Given the description of an element on the screen output the (x, y) to click on. 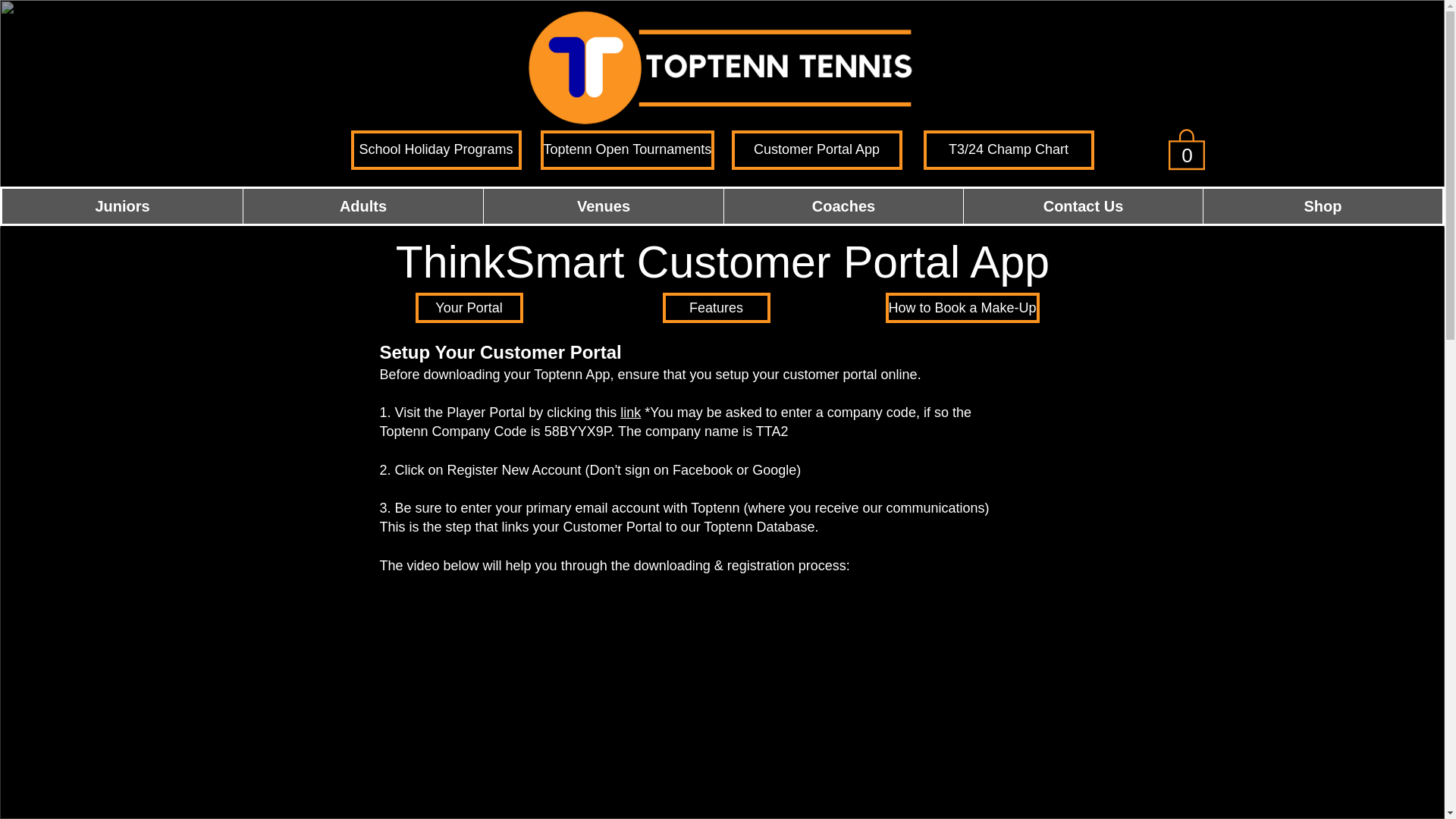
Toptenn Open Tournaments (627, 149)
Features (716, 307)
Adults (363, 206)
Your Portal (468, 307)
Juniors (122, 206)
How to Book a Make-Up (962, 307)
this link (617, 412)
Shop (1322, 206)
School Holiday Programs (435, 149)
Venues (603, 206)
